Given the description of an element on the screen output the (x, y) to click on. 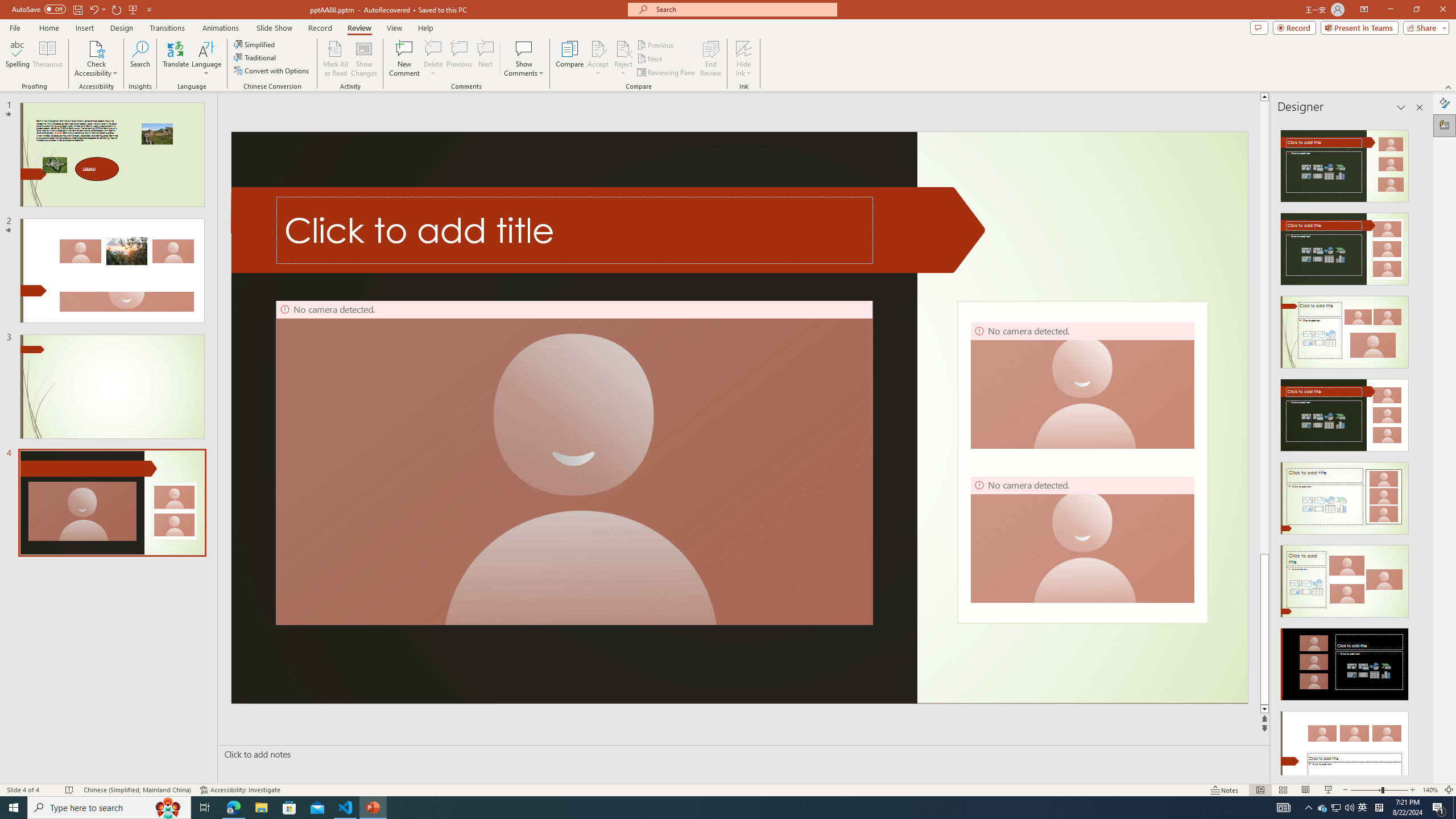
Thesaurus... (47, 58)
Compare (569, 58)
Simplified (254, 44)
Camera 4, No camera detected. (1082, 539)
Delete (432, 58)
Line down (1264, 709)
Language (206, 58)
